Given the description of an element on the screen output the (x, y) to click on. 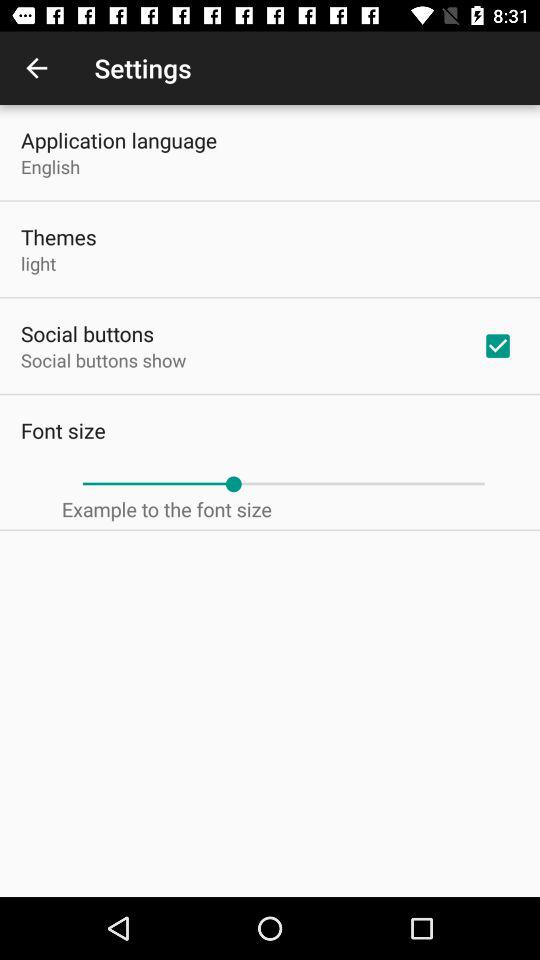
click the themes item (58, 236)
